Given the description of an element on the screen output the (x, y) to click on. 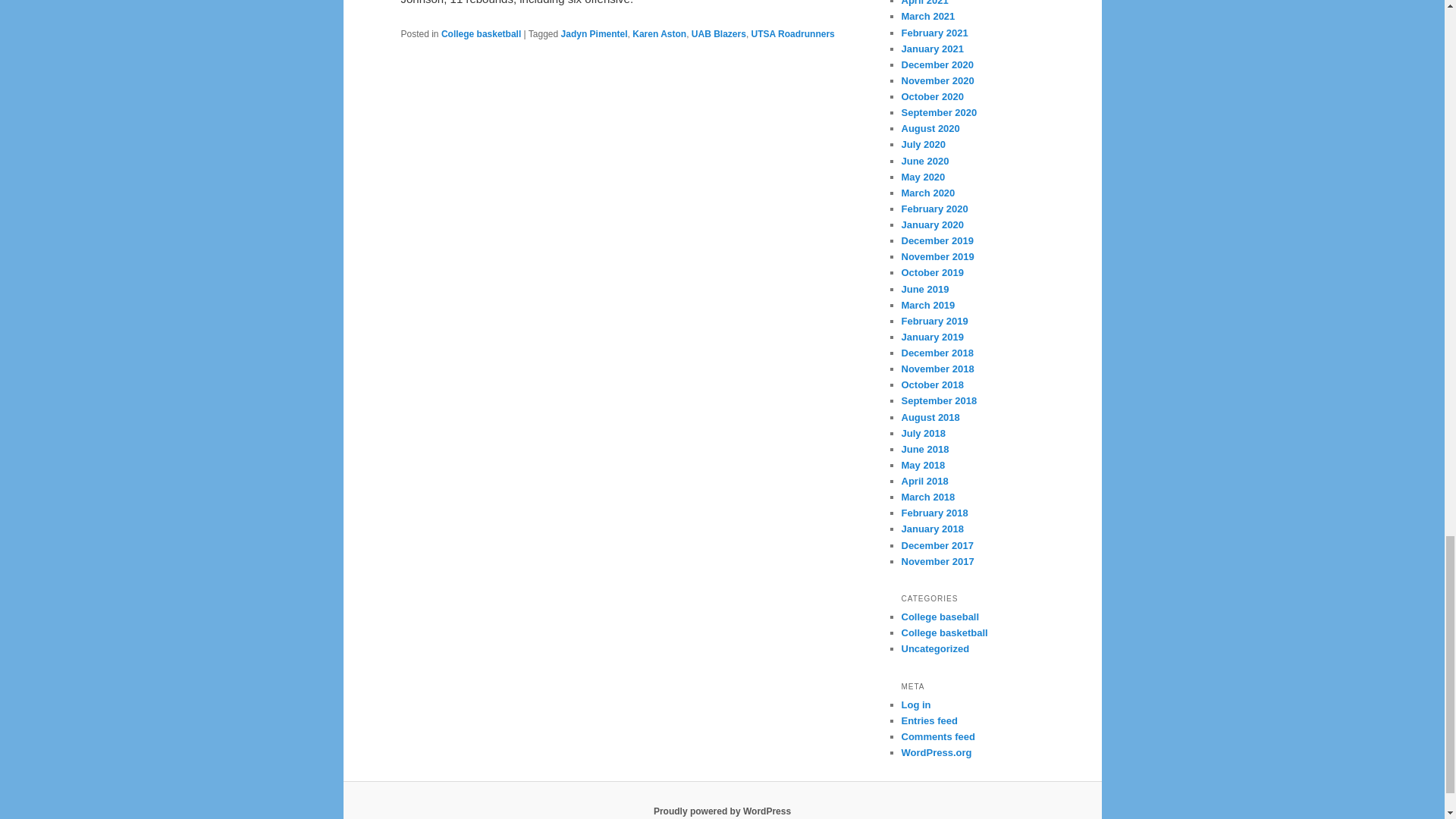
UAB Blazers (718, 33)
UTSA Roadrunners (792, 33)
Jadyn Pimentel (593, 33)
College basketball (481, 33)
Karen Aston (658, 33)
Semantic Personal Publishing Platform (721, 810)
